Given the description of an element on the screen output the (x, y) to click on. 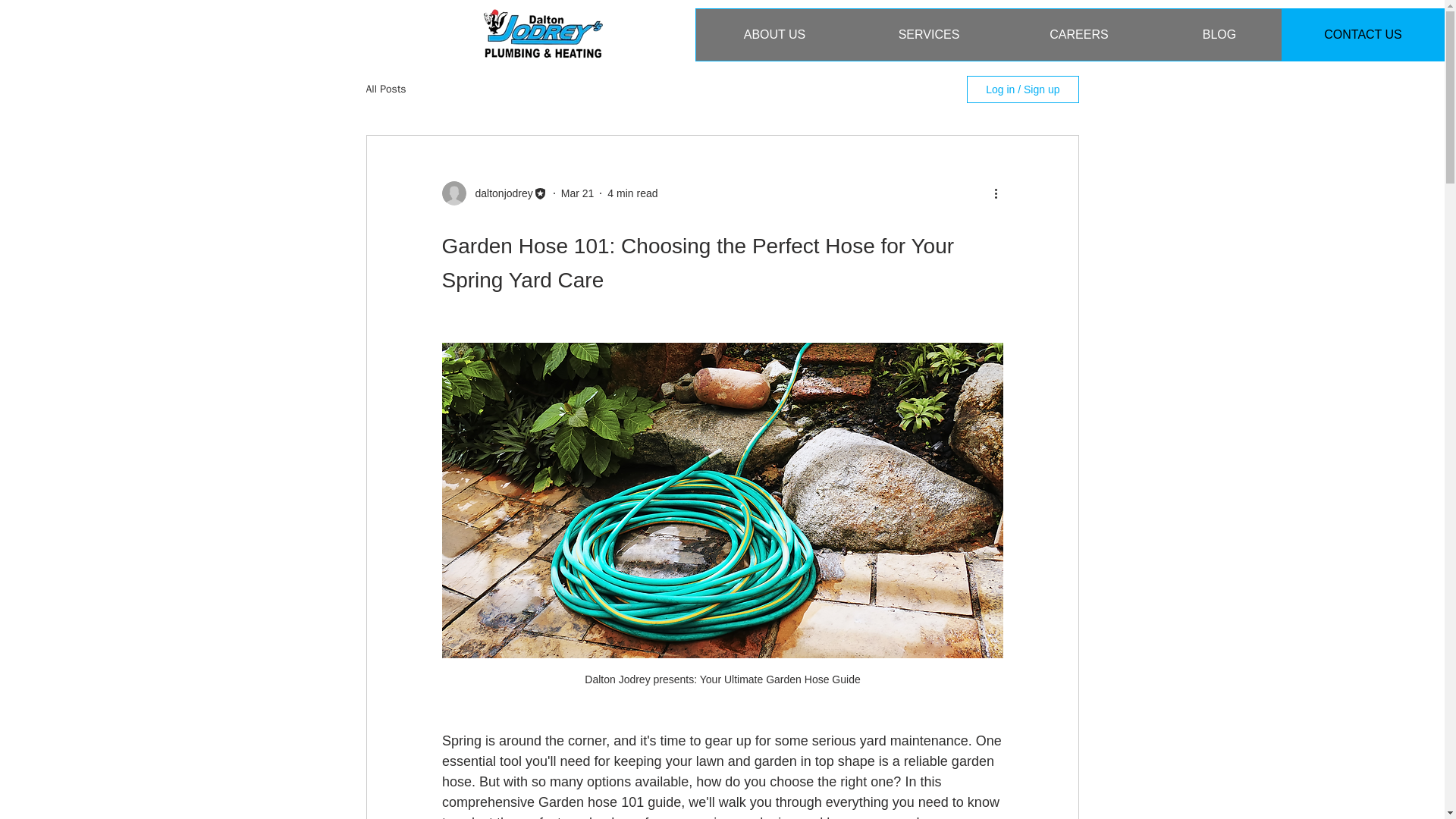
CAREERS (1078, 34)
Mar 21 (577, 192)
4 min read (632, 192)
SERVICES (928, 34)
All Posts (385, 89)
ABOUT US (774, 34)
BLOG (1218, 34)
daltonjodrey (498, 192)
